Given the description of an element on the screen output the (x, y) to click on. 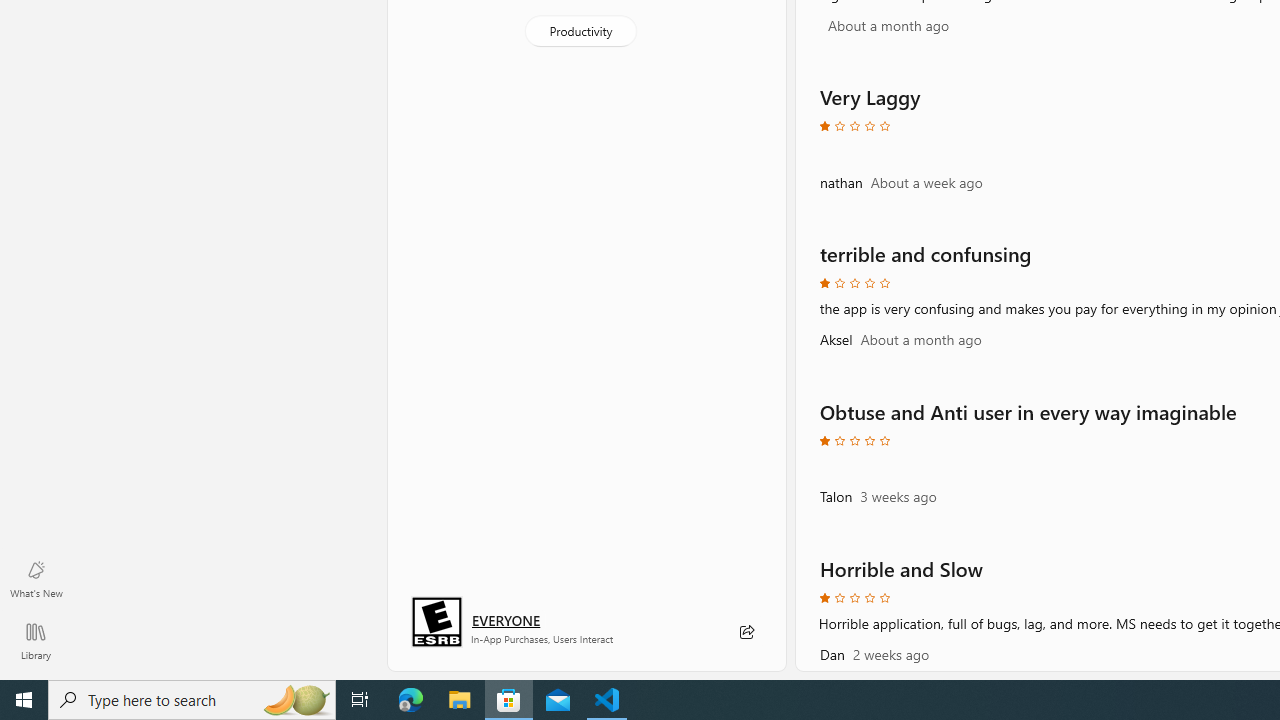
Library (35, 640)
Productivity (579, 30)
What's New (35, 578)
Age rating: EVERYONE. Click for more information. (506, 619)
Share (746, 632)
